Given the description of an element on the screen output the (x, y) to click on. 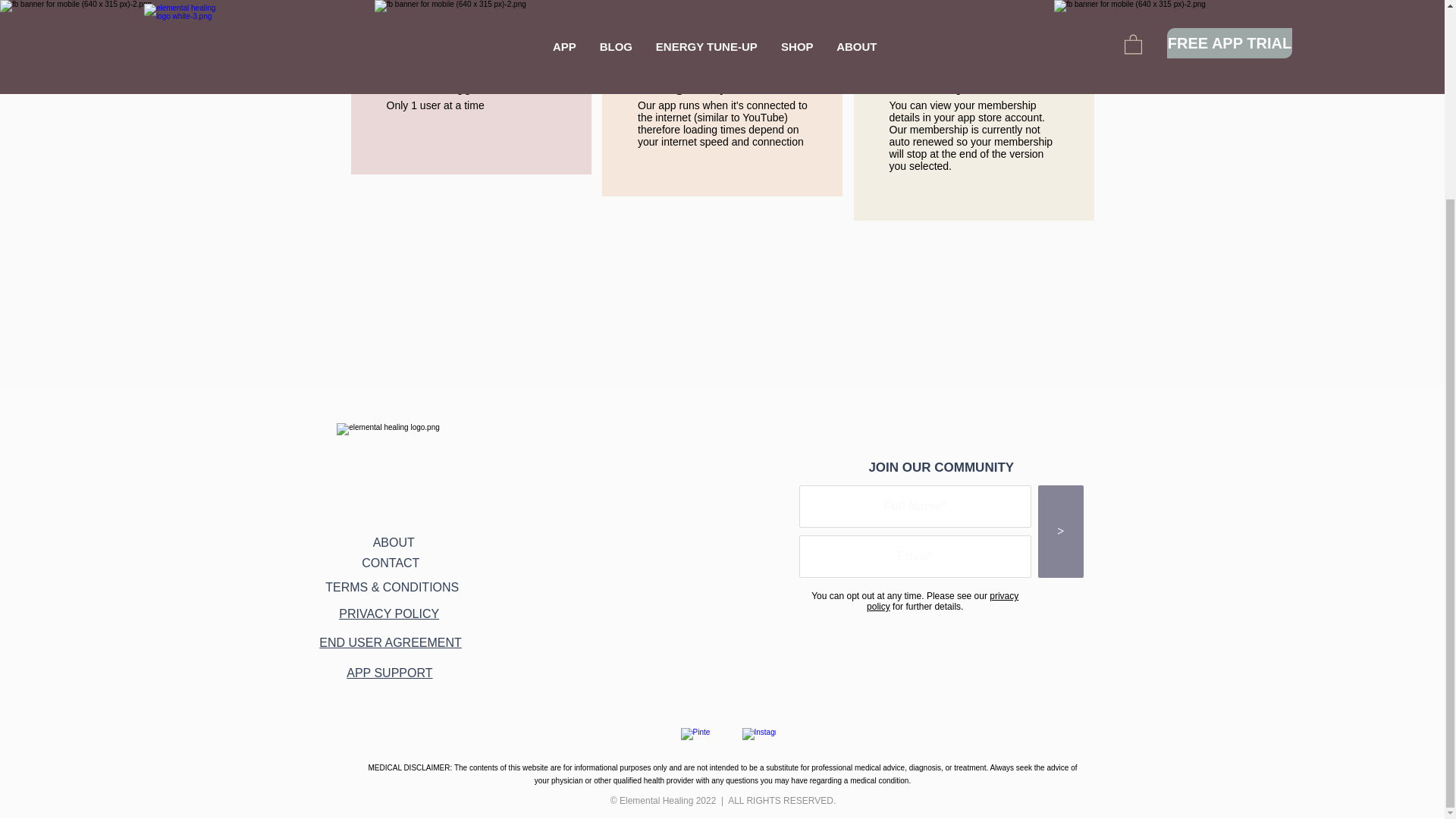
CONTACT (390, 562)
privacy policy (941, 600)
APP SUPPORT (389, 672)
END USER AGREEMENT (389, 642)
ABOUT (393, 542)
PRIVACY POLICY (389, 613)
